Given the description of an element on the screen output the (x, y) to click on. 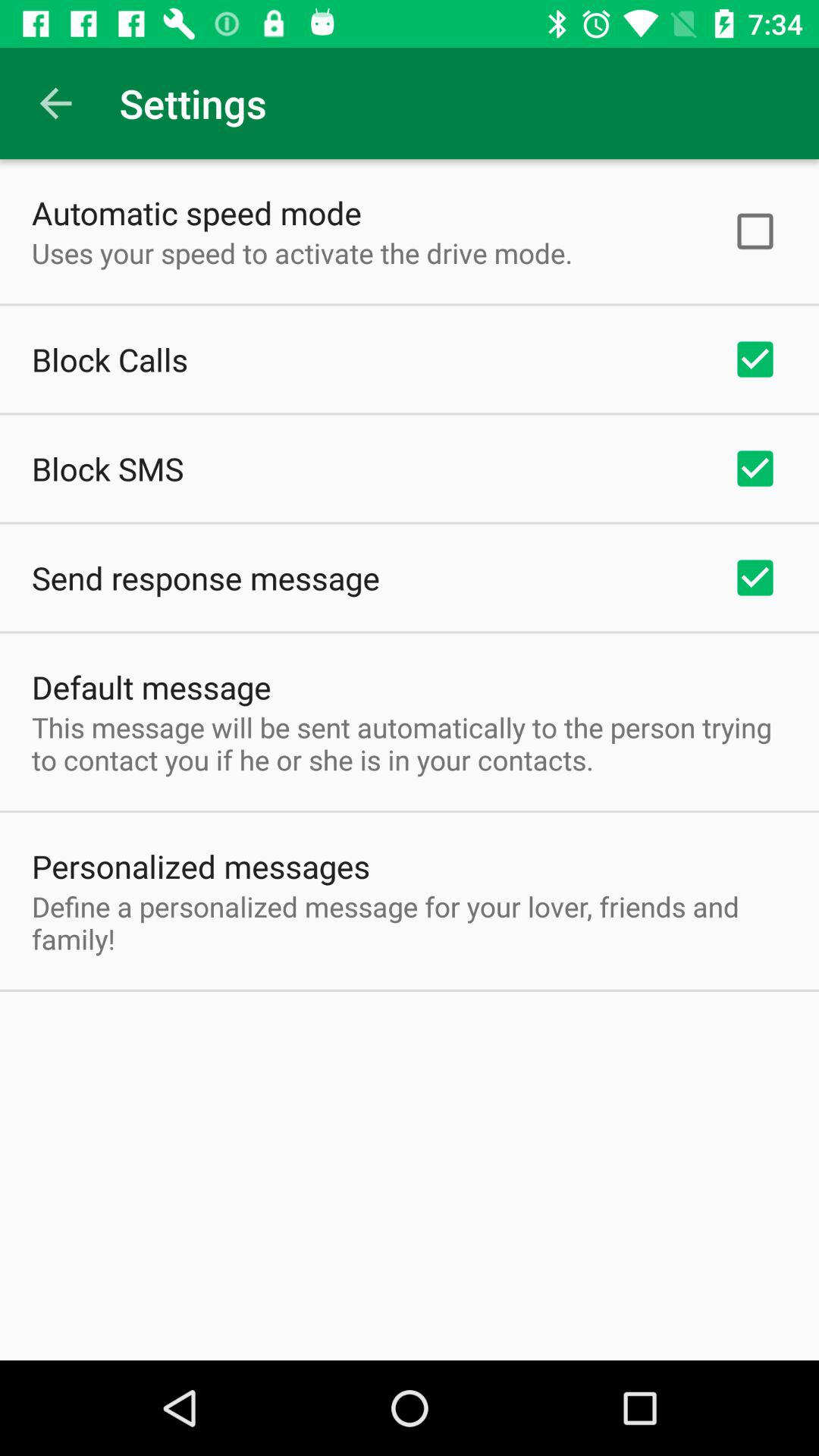
choose the send response message app (205, 577)
